Given the description of an element on the screen output the (x, y) to click on. 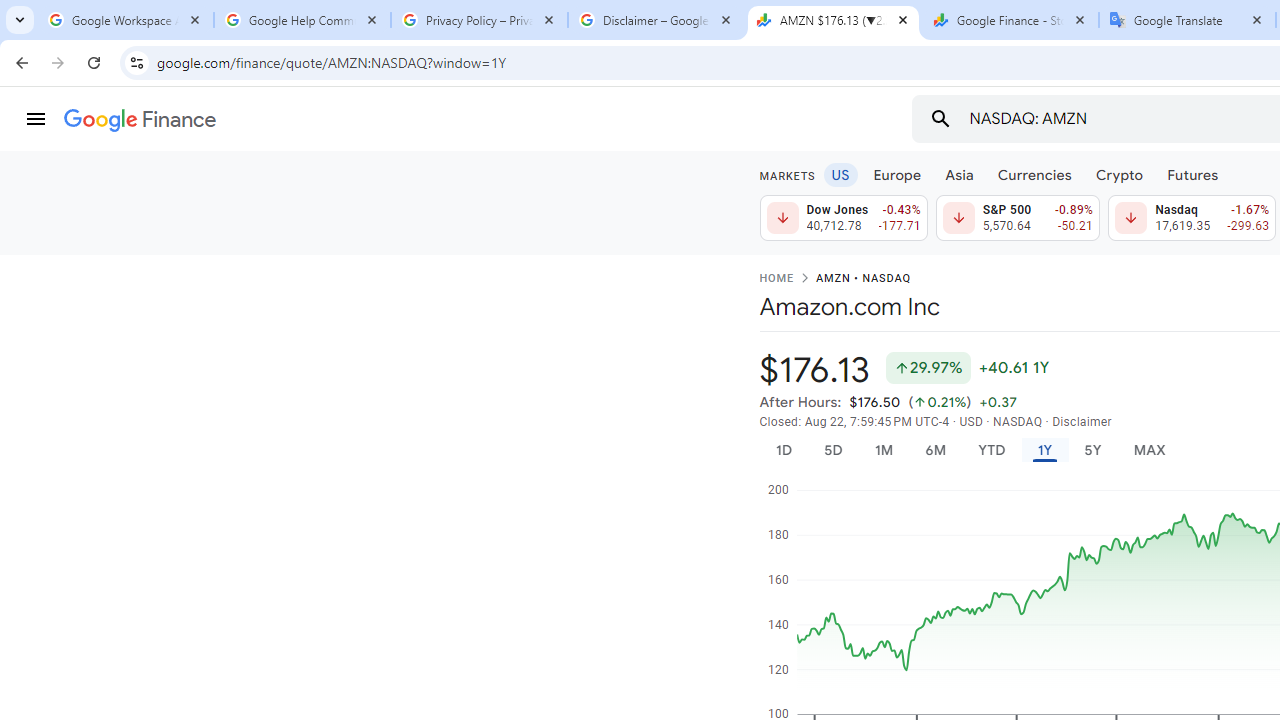
S&P 500 5,570.64 Down by 0.89% -50.21 (1017, 218)
Crypto (1119, 174)
Dow Jones 40,712.78 Down by 0.43% -177.71 (843, 218)
Futures (1192, 174)
Nasdaq 17,619.35 Down by 1.67% -299.63 (1192, 218)
Disclaimer (1082, 421)
1M (882, 449)
Currencies (1034, 174)
Asia (958, 174)
YTD (991, 449)
